Given the description of an element on the screen output the (x, y) to click on. 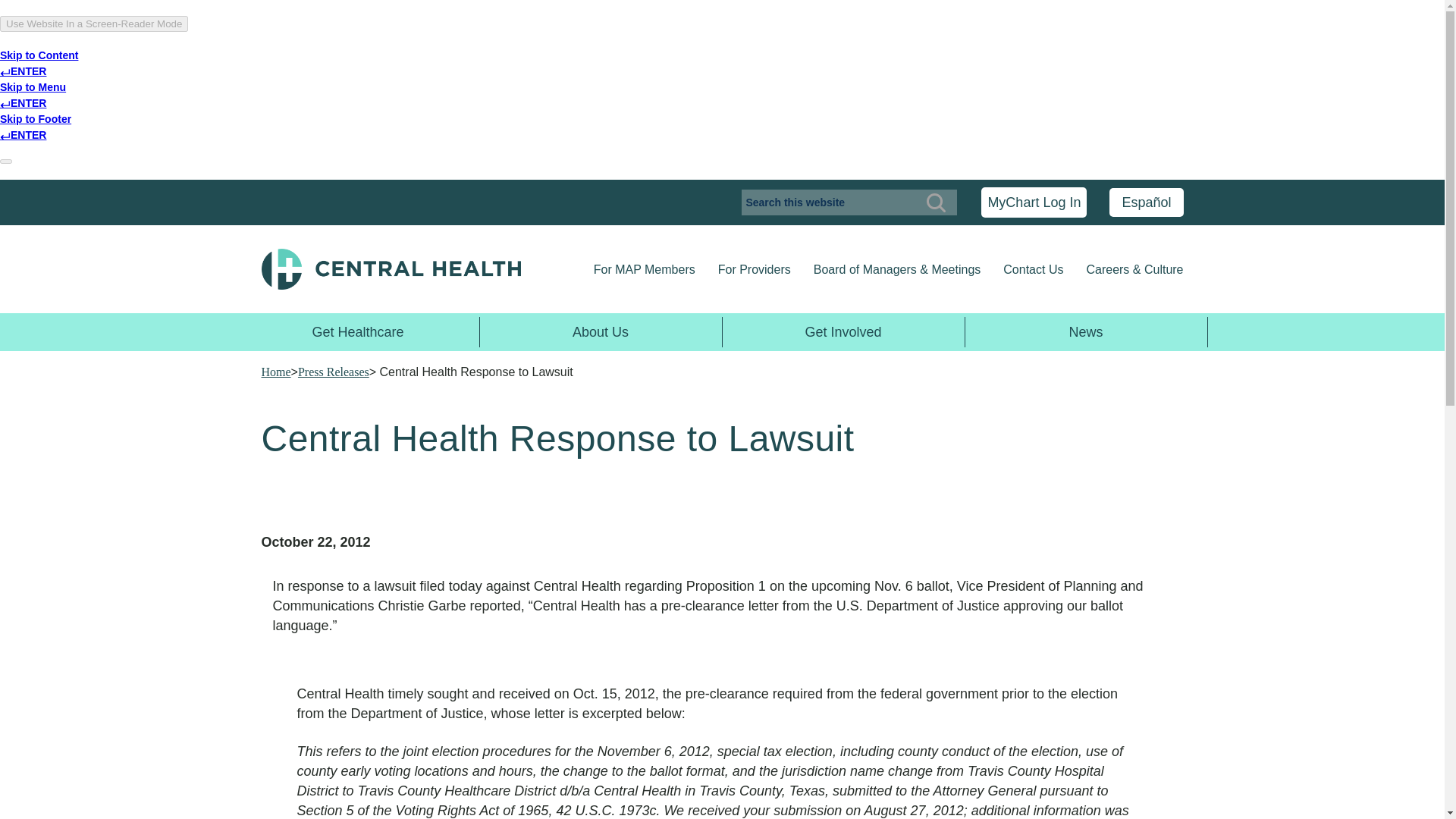
About Us (600, 331)
Contact Us (1032, 270)
For Providers (753, 270)
MyChart Log In (1033, 202)
Central Health (409, 268)
Get Involved (842, 331)
For MAP Members (644, 270)
Get Healthcare (357, 331)
